Given the description of an element on the screen output the (x, y) to click on. 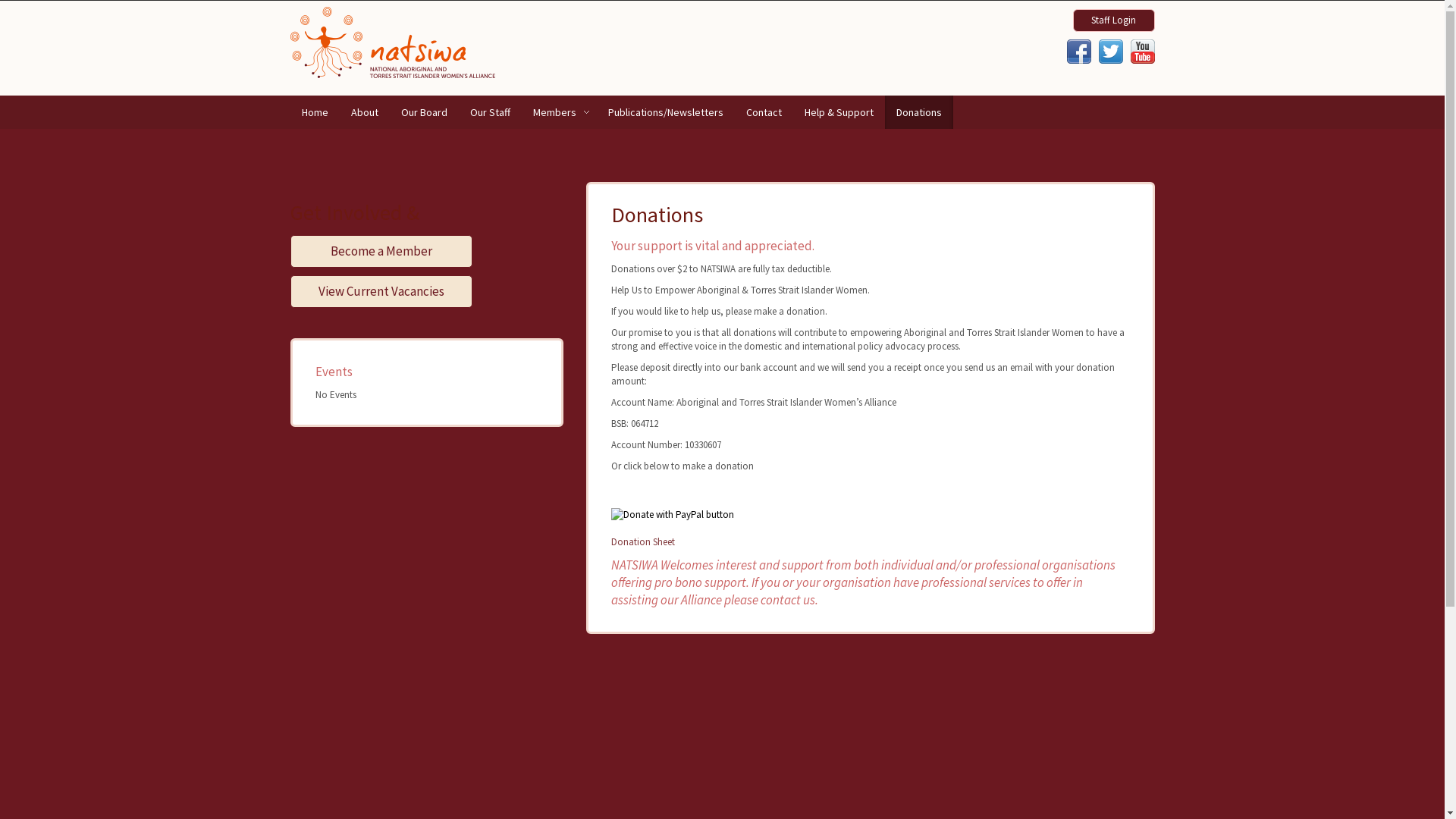
View Current Vacancies Element type: text (425, 291)
Members Element type: text (558, 111)
Home Element type: text (313, 111)
About Element type: text (364, 111)
Publications/Newsletters Element type: text (665, 111)
Donations Element type: text (918, 111)
Our Board Element type: text (423, 111)
PayPal - The safer, easier way to pay online! Element type: hover (672, 514)
Become a Member Element type: text (425, 251)
Our Staff Element type: text (489, 111)
Help & Support Element type: text (838, 111)
Staff Login Element type: text (1113, 24)
Contact Element type: text (763, 111)
Donation Sheet Element type: text (642, 541)
